Given the description of an element on the screen output the (x, y) to click on. 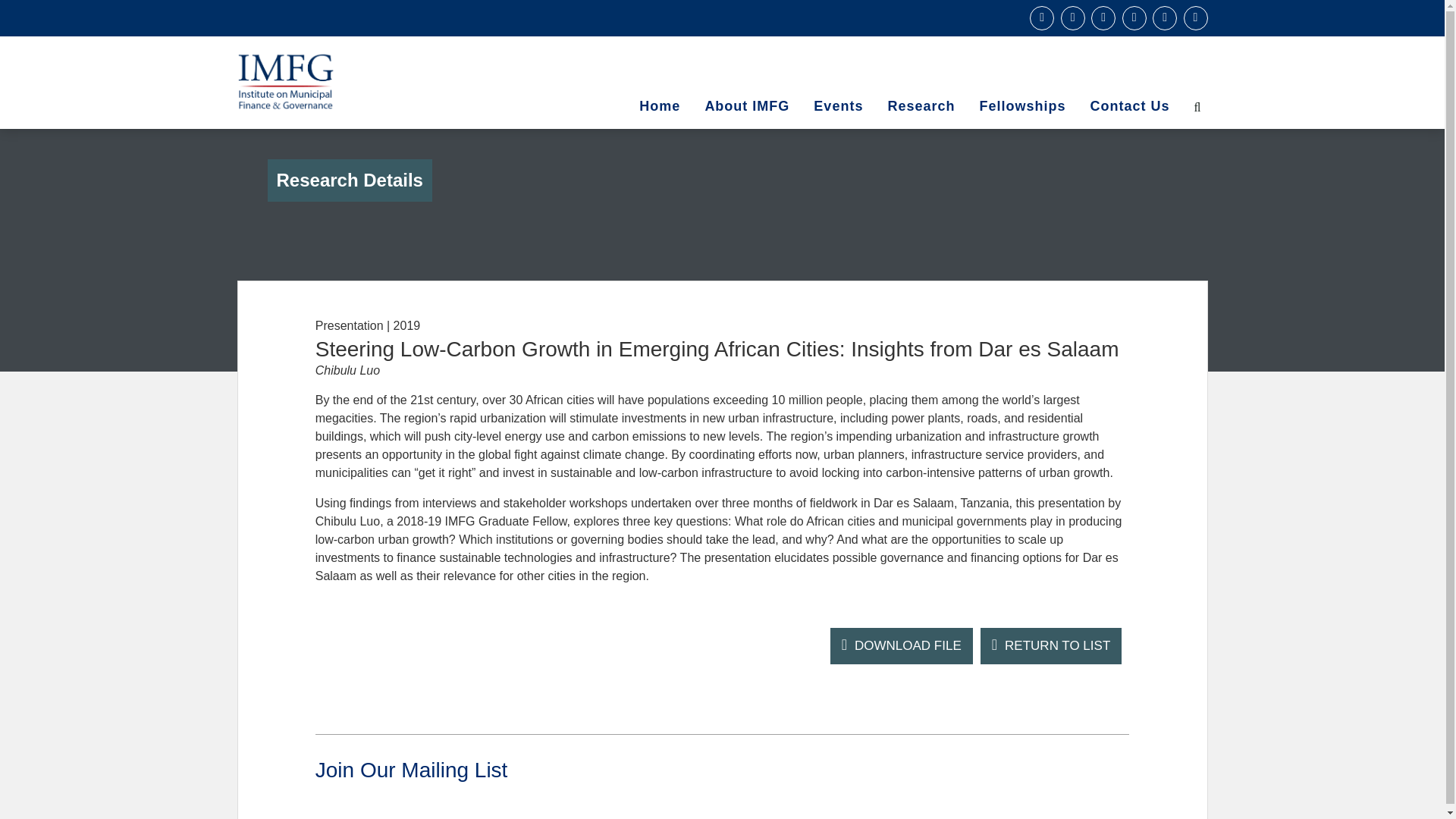
About IMFG (747, 106)
Events (838, 106)
Contact Us (1128, 106)
Home (660, 106)
Research (920, 106)
Fellowships (1021, 106)
